Given the description of an element on the screen output the (x, y) to click on. 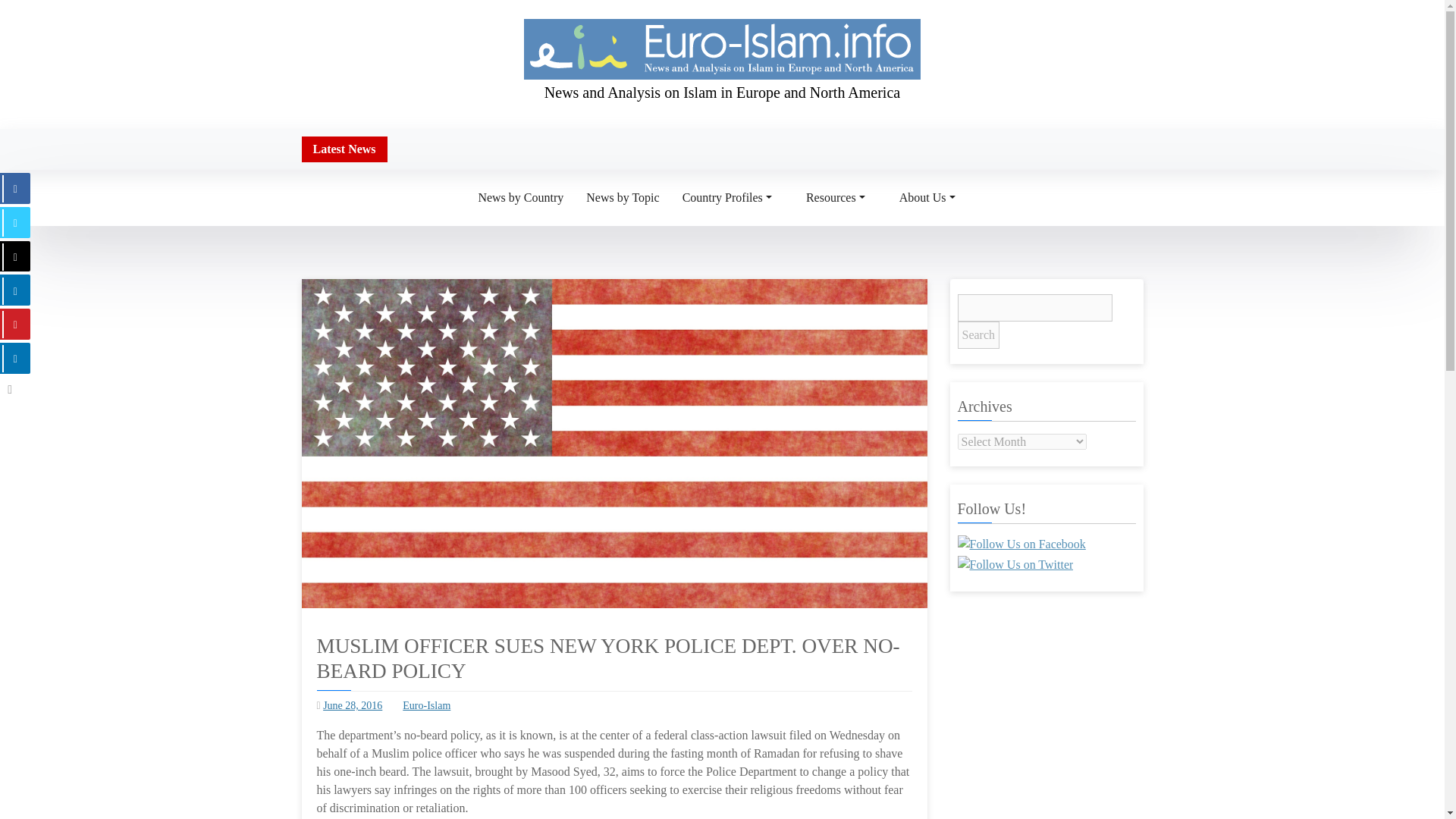
Search (977, 334)
Follow Us on Facebook (1020, 544)
Follow Us on Twitter (1014, 565)
